Given the description of an element on the screen output the (x, y) to click on. 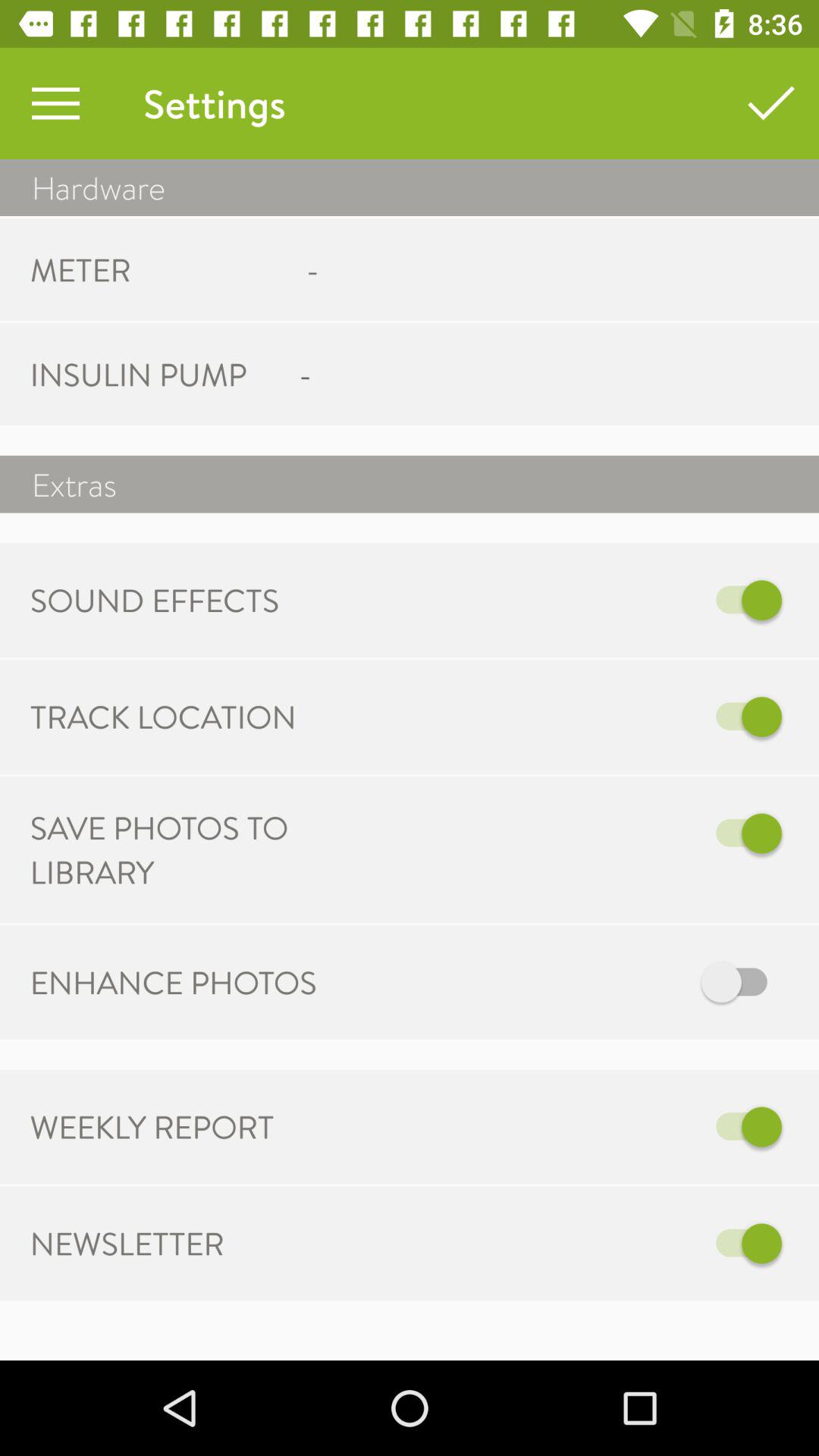
toggle newsletter option (566, 1243)
